Given the description of an element on the screen output the (x, y) to click on. 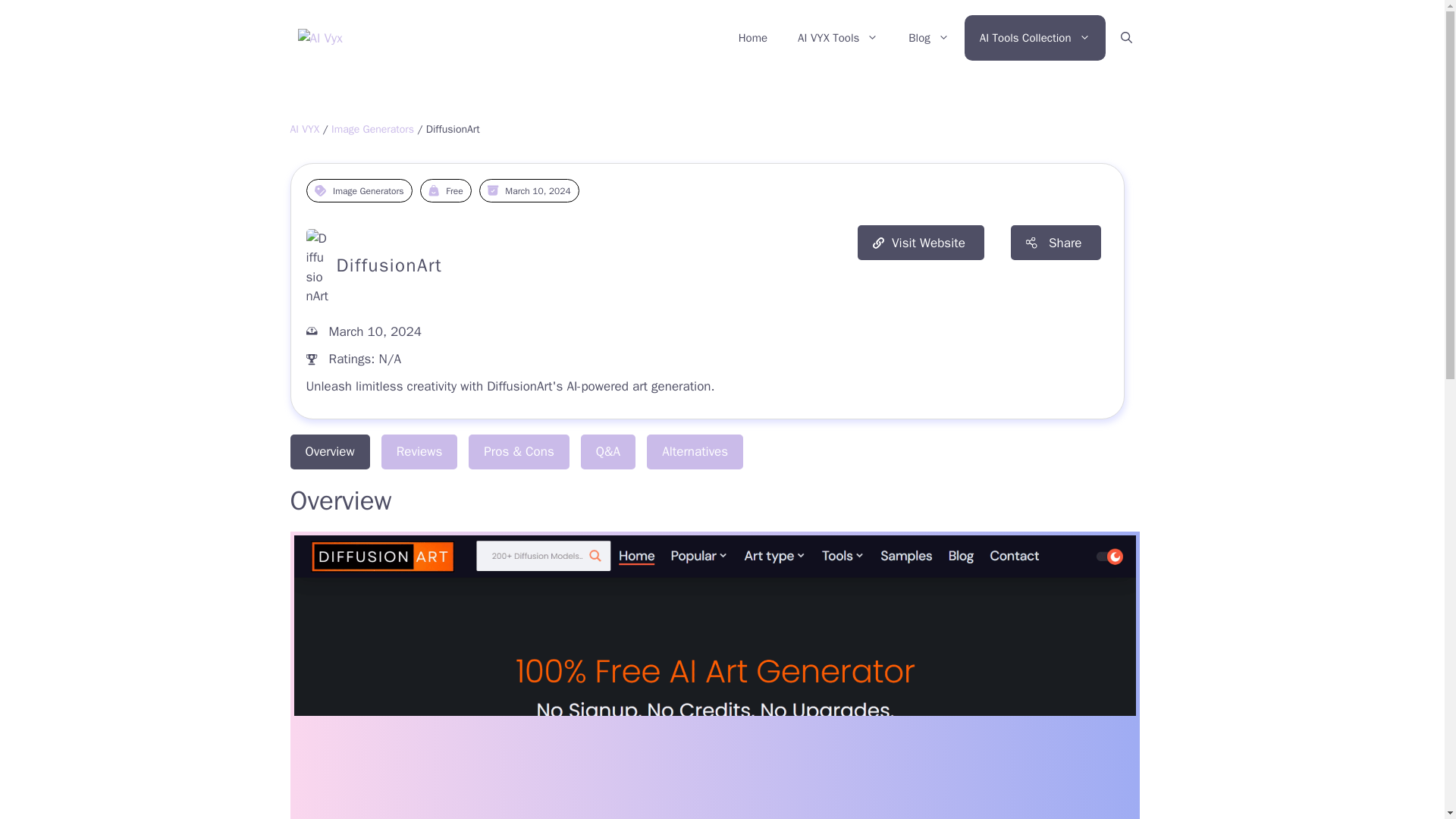
AI VYX Tools (838, 37)
AI VYX (303, 128)
Home (753, 37)
Image Generators (372, 128)
Blog (928, 37)
AI Tools Collection (1034, 37)
Visit Website (920, 242)
Image Generators (368, 191)
